Given the description of an element on the screen output the (x, y) to click on. 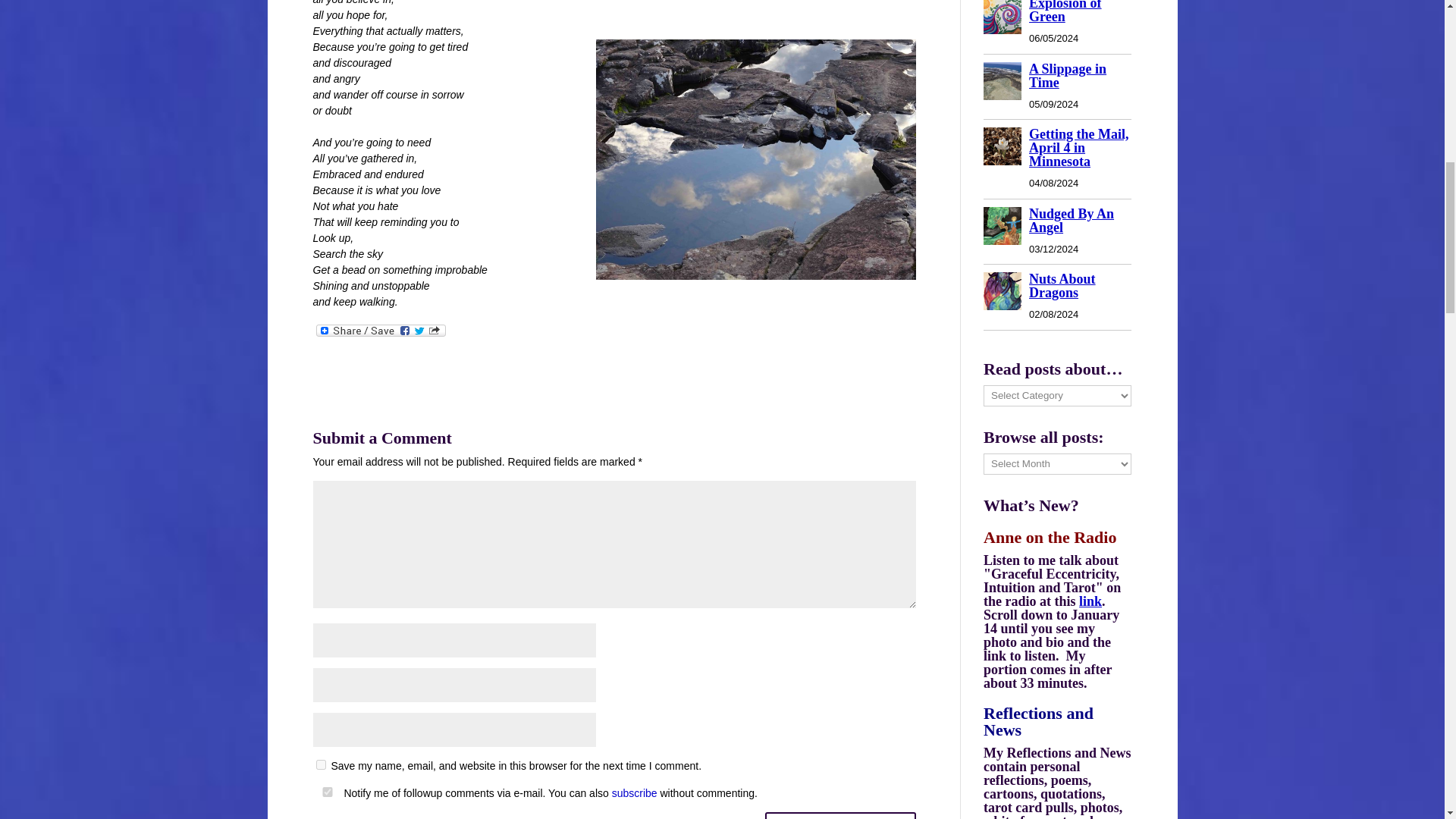
Nuts About Dragons (1003, 291)
Nuts About Dragons (1062, 285)
yes (326, 791)
Explosion of Green (1065, 12)
Getting the Mail, April 4 in Minnesota (1003, 147)
A Slippage in Time (1067, 75)
Nudged By An Angel (1003, 226)
yes (319, 764)
Submit Comment (840, 815)
Nudged By An Angel (1071, 220)
Explosion of Green (1003, 18)
A Slippage in Time (1003, 81)
Getting the Mail, April 4 in Minnesota (1078, 147)
